Given the description of an element on the screen output the (x, y) to click on. 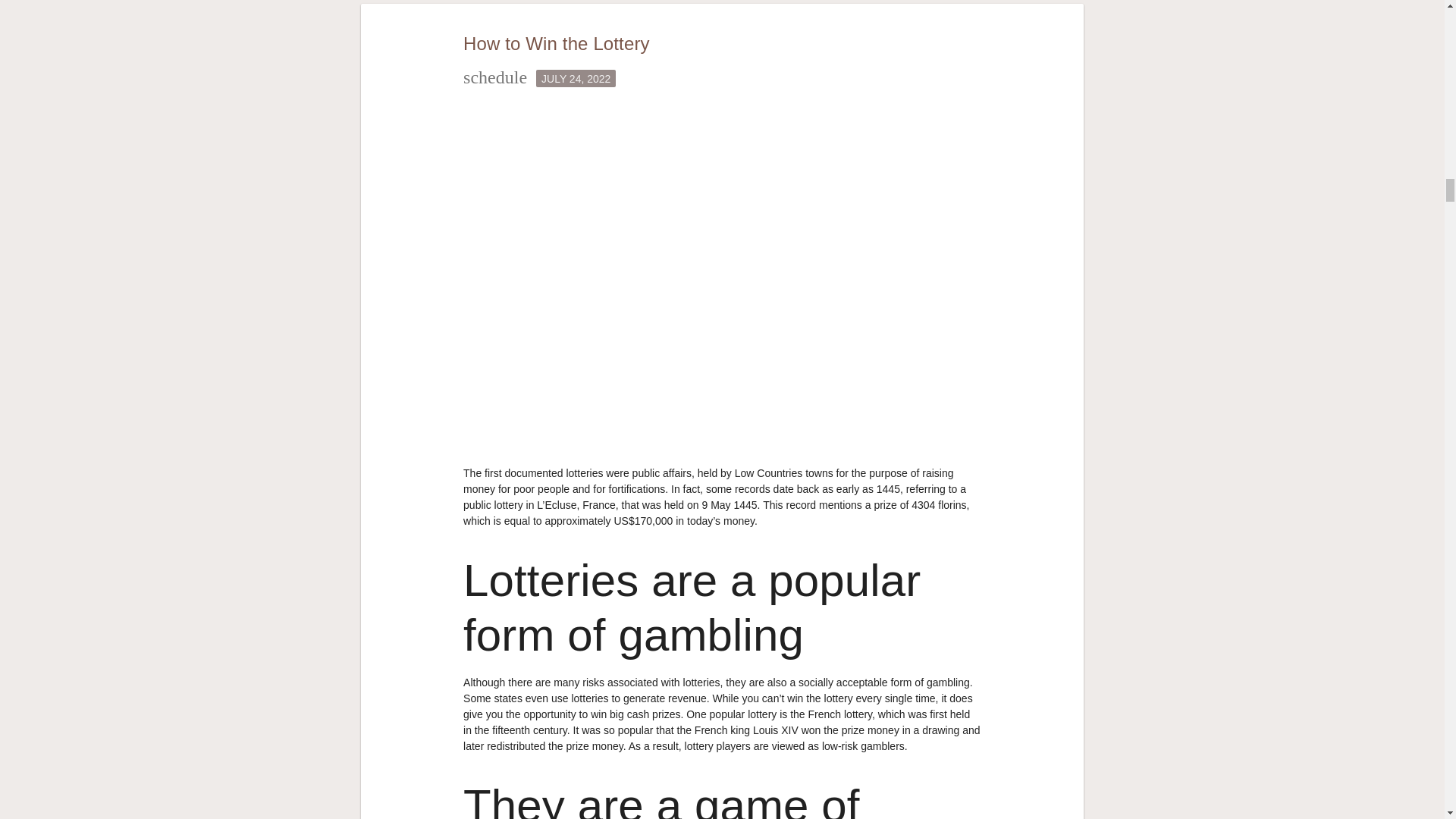
How to Win the Lottery (556, 43)
JULY 24, 2022 (575, 77)
